Given the description of an element on the screen output the (x, y) to click on. 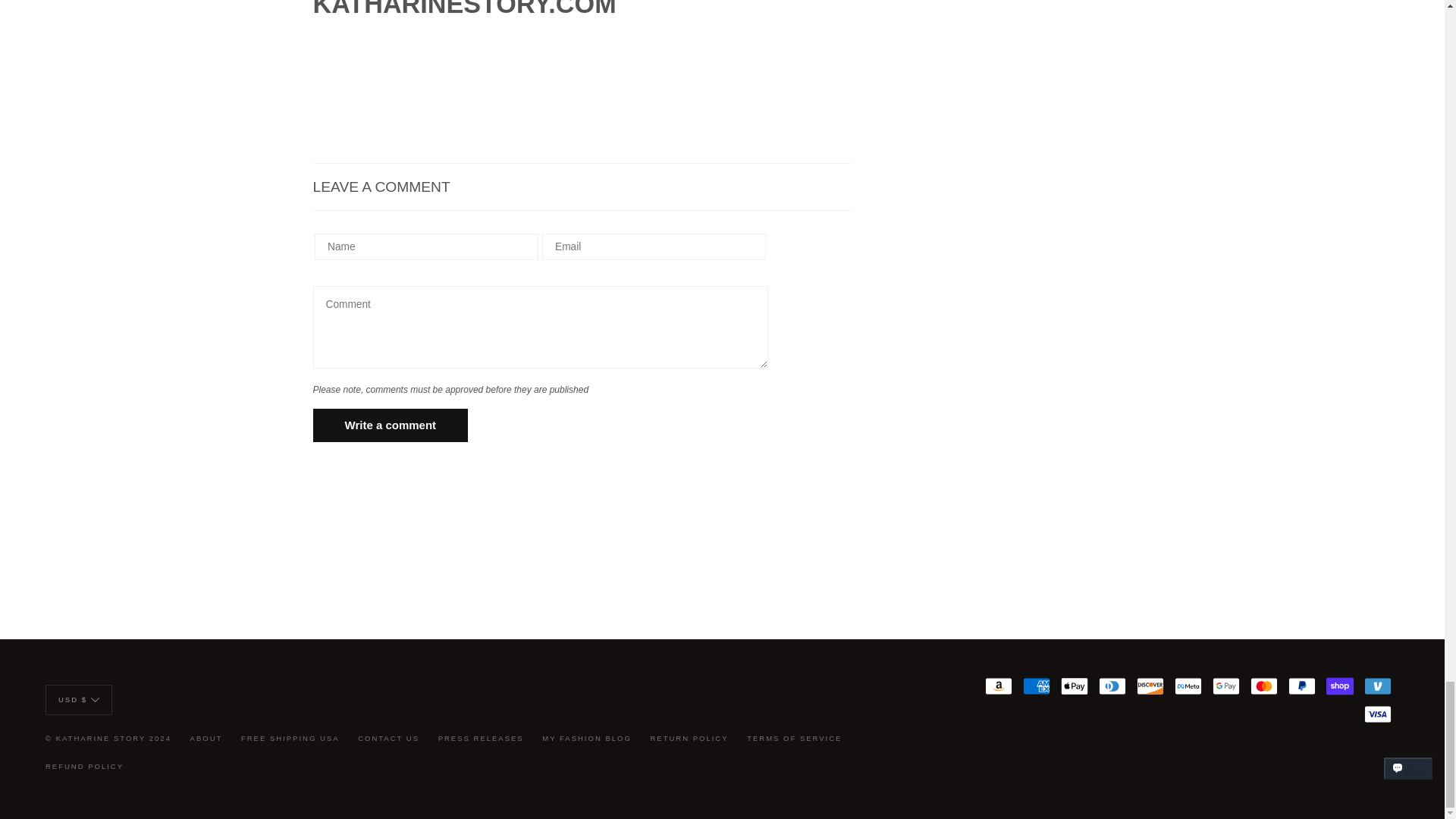
Write a comment (390, 425)
Discover (1150, 686)
Shop Pay (1340, 686)
Mastercard (1264, 686)
Diners Club (1112, 686)
Amazon (998, 686)
Apple Pay (1074, 686)
American Express (1036, 686)
Venmo (1377, 686)
Meta Pay (1188, 686)
Google Pay (1226, 686)
PayPal (1302, 686)
